Given the description of an element on the screen output the (x, y) to click on. 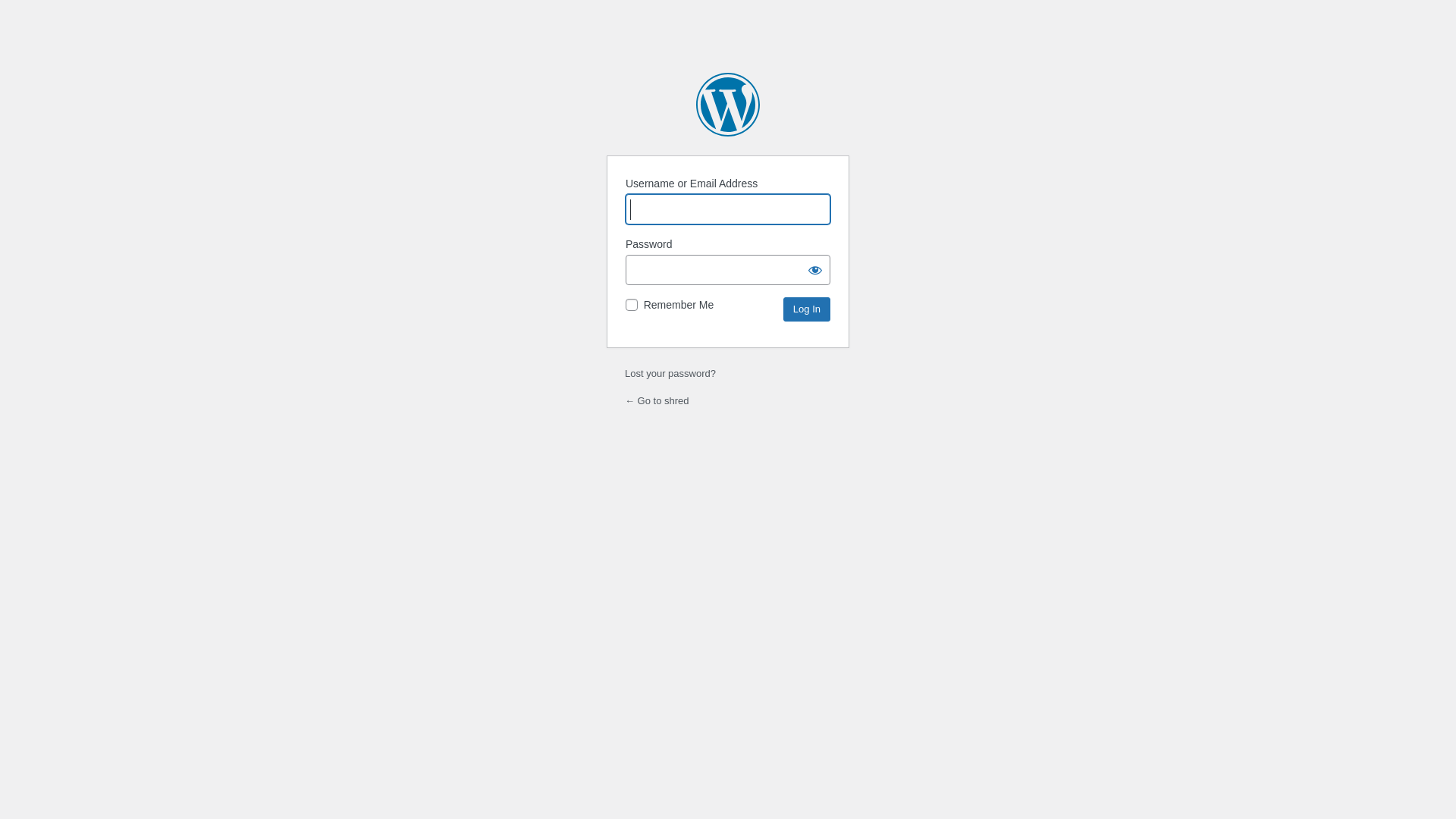
Lost your password? Element type: text (669, 373)
shred Element type: text (727, 104)
Log In Element type: text (806, 309)
